Given the description of an element on the screen output the (x, y) to click on. 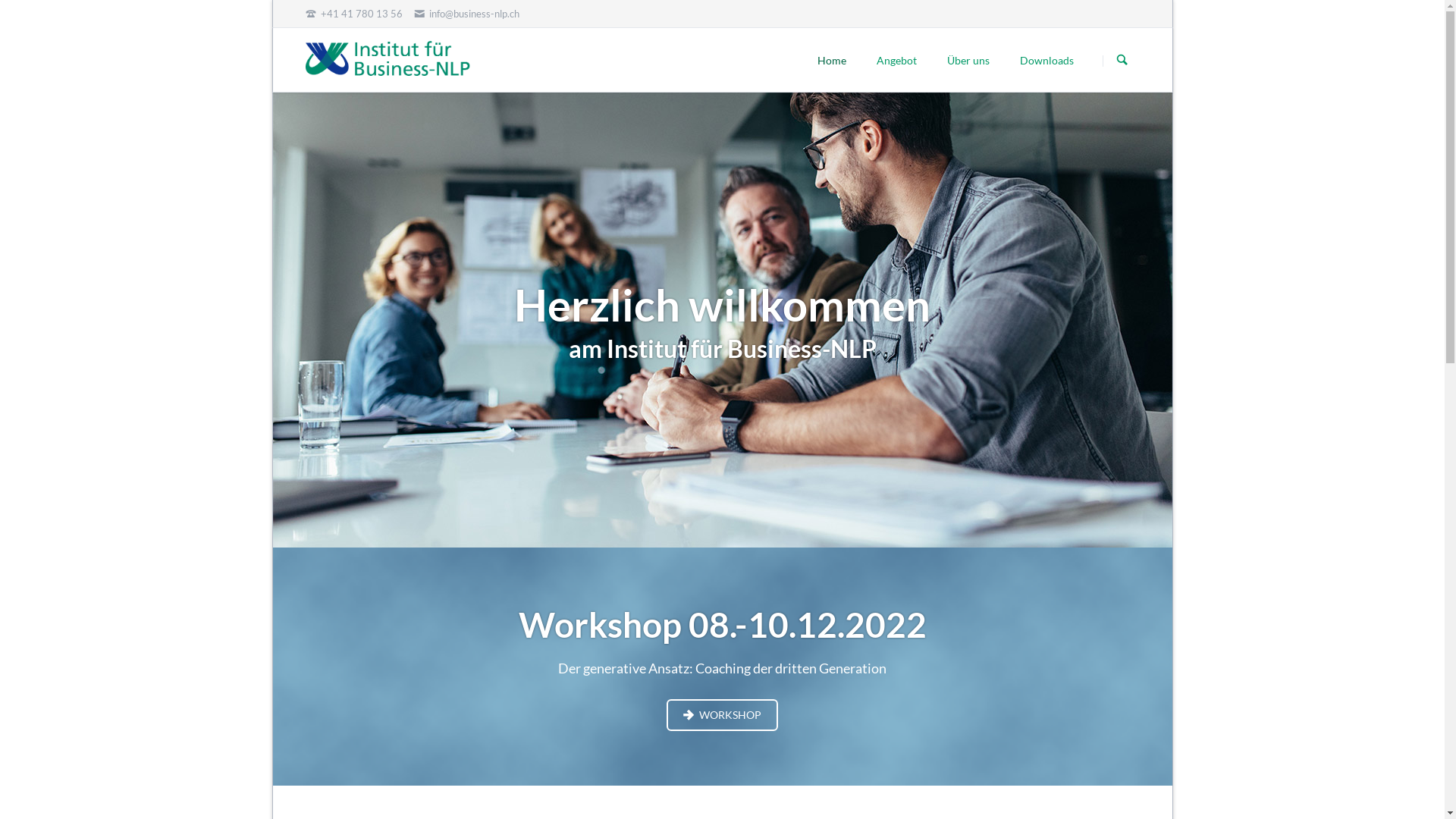
SUCHEN Element type: text (1122, 60)
+41 41 780 13 56 Element type: text (353, 13)
info@business-nlp.ch Element type: text (466, 13)
Angebot Element type: text (896, 59)
WORKSHOP Element type: text (721, 715)
Downloads Element type: text (1046, 59)
